Given the description of an element on the screen output the (x, y) to click on. 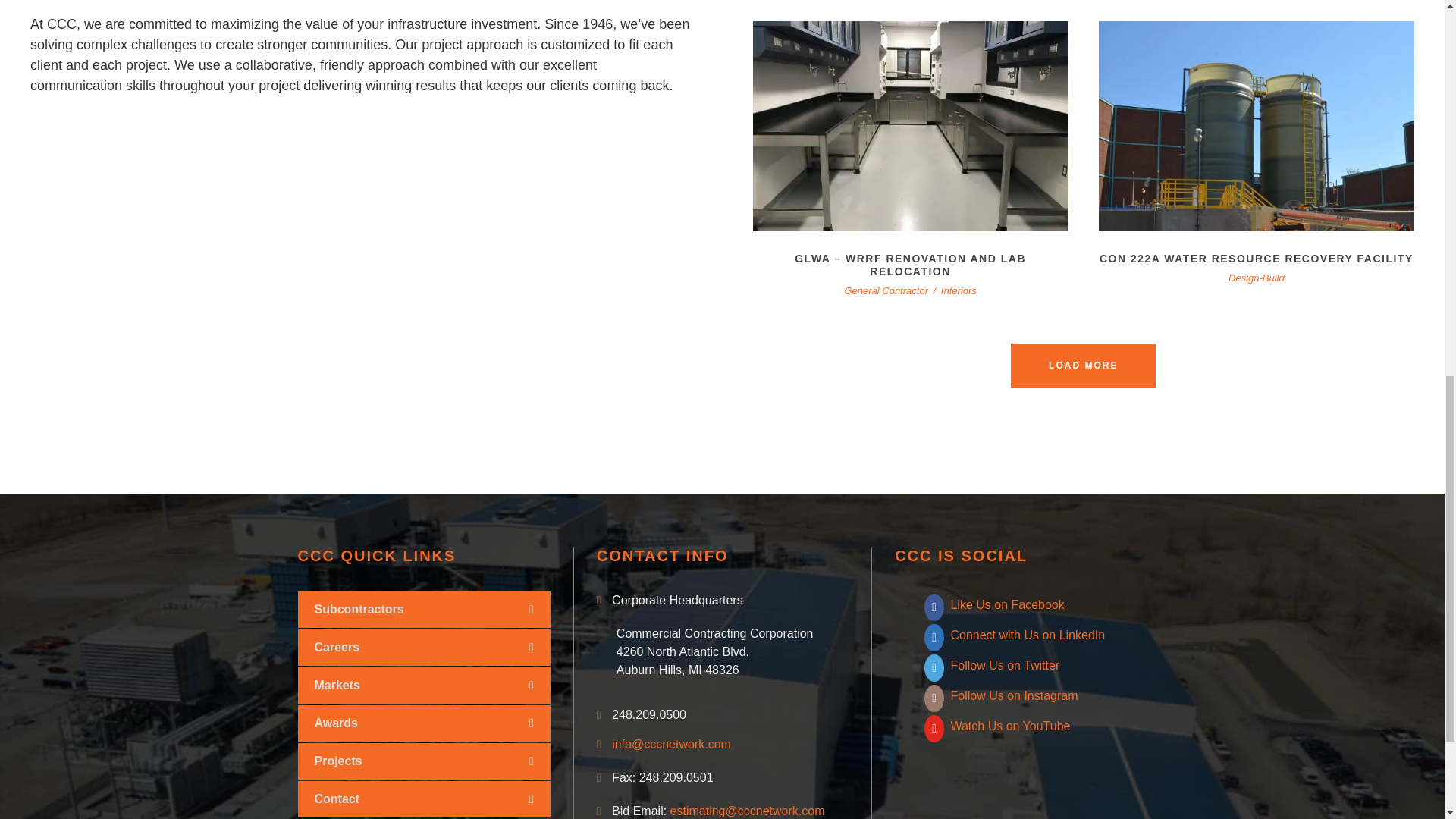
450 (909, 126)
